Given the description of an element on the screen output the (x, y) to click on. 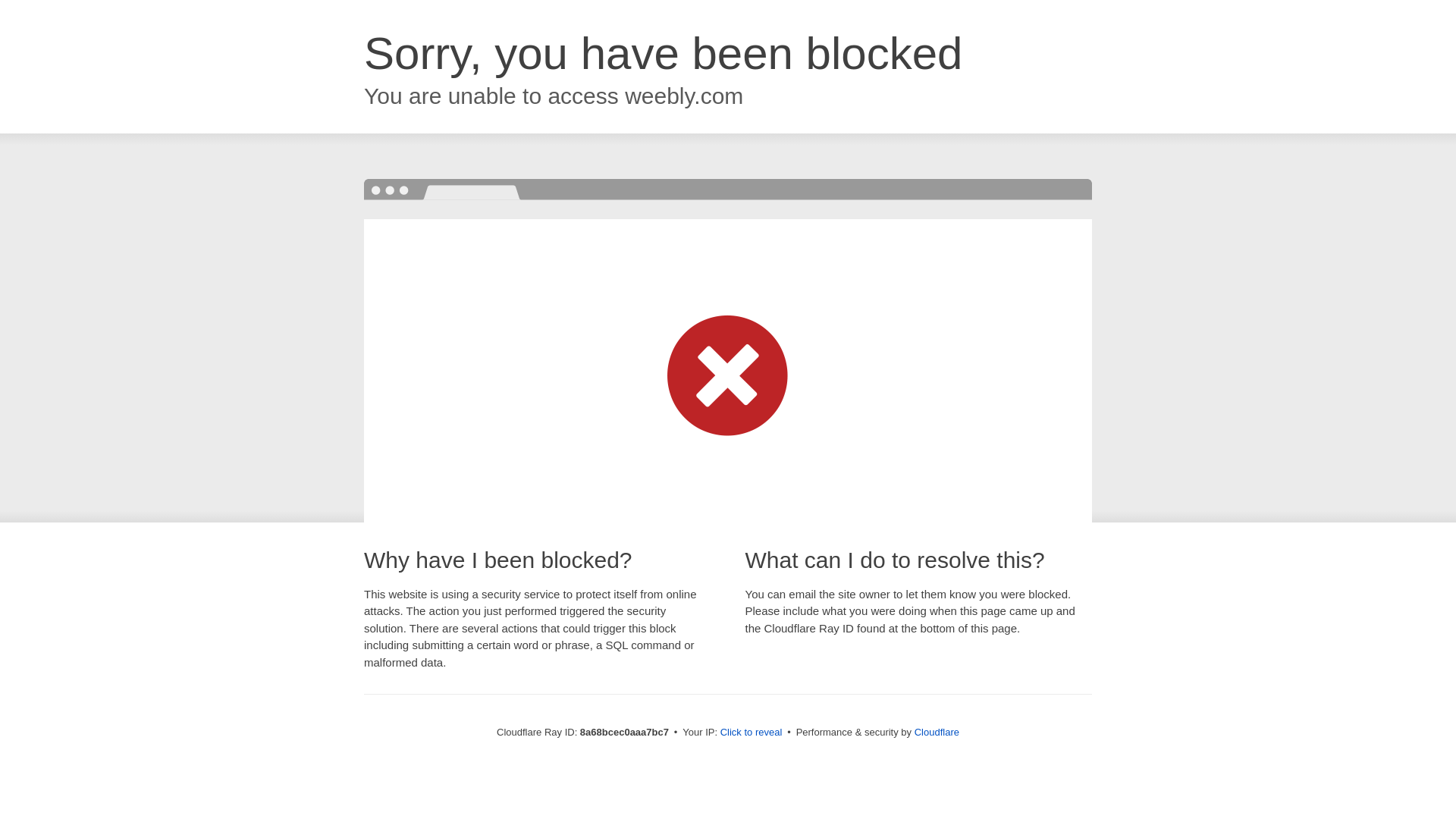
Cloudflare (936, 731)
Click to reveal (751, 732)
